Given the description of an element on the screen output the (x, y) to click on. 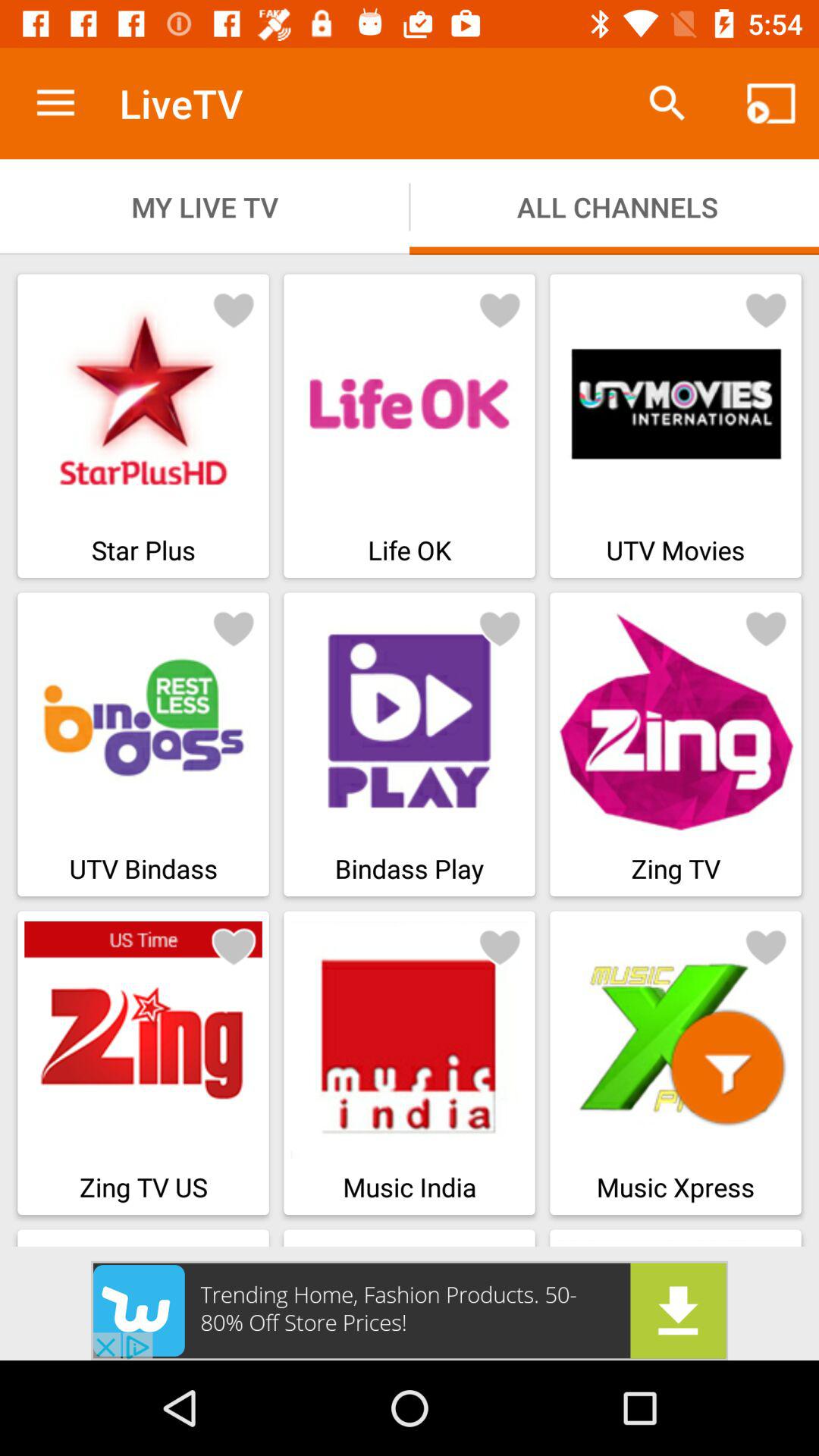
television page (233, 309)
